Given the description of an element on the screen output the (x, y) to click on. 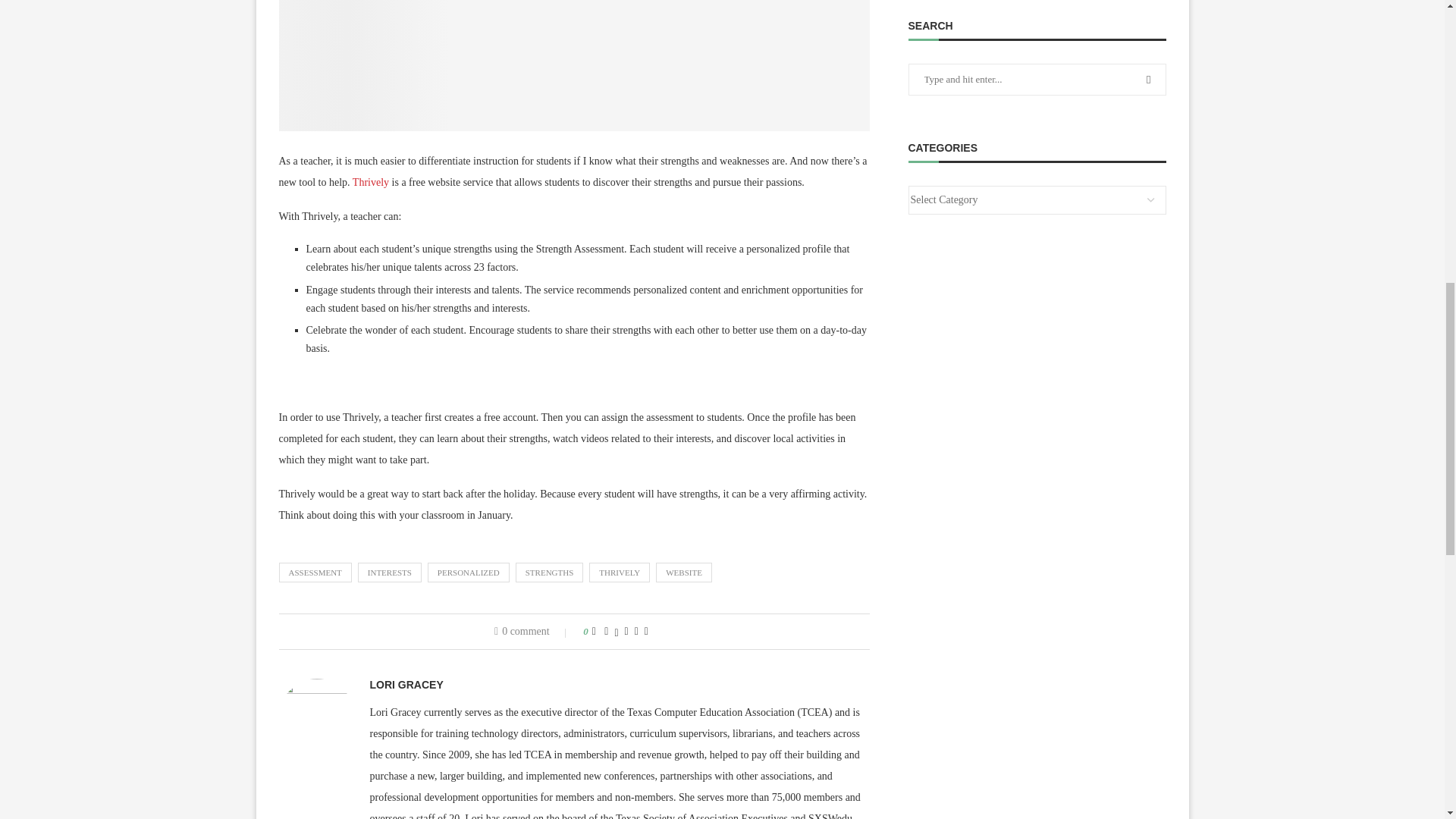
PERSONALIZED (468, 572)
ASSESSMENT (315, 572)
Thrively (370, 182)
Thrively (574, 65)
Author Lori Gracey (406, 684)
INTERESTS (390, 572)
